Given the description of an element on the screen output the (x, y) to click on. 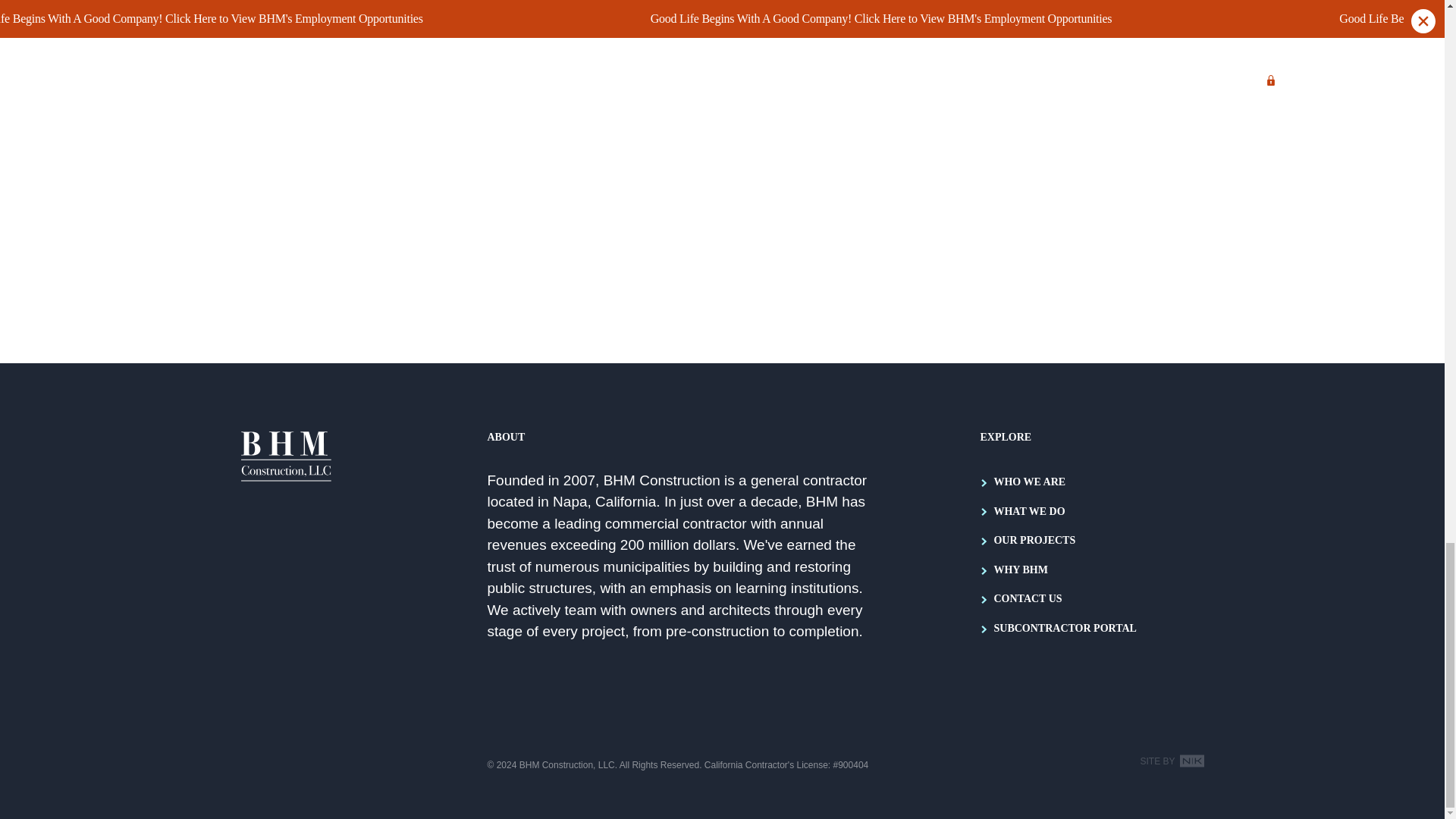
Site by NK Interactive (1172, 761)
